Given the description of an element on the screen output the (x, y) to click on. 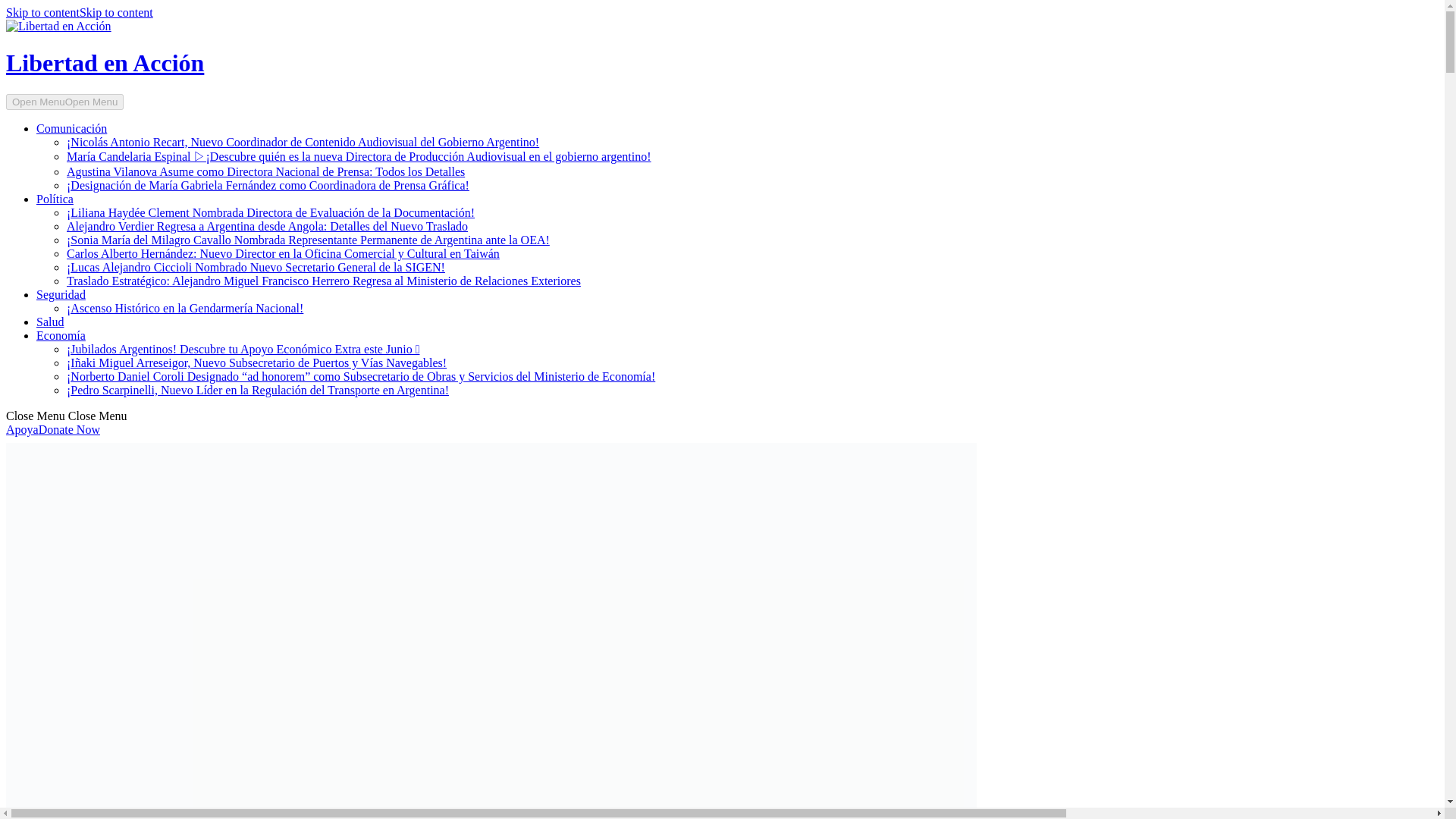
Seguridad (60, 294)
Skip to contentSkip to content (78, 11)
ApoyaDonate Now (52, 429)
Open MenuOpen Menu (64, 101)
Salud (50, 321)
Close Menu Close Menu (66, 415)
